Given the description of an element on the screen output the (x, y) to click on. 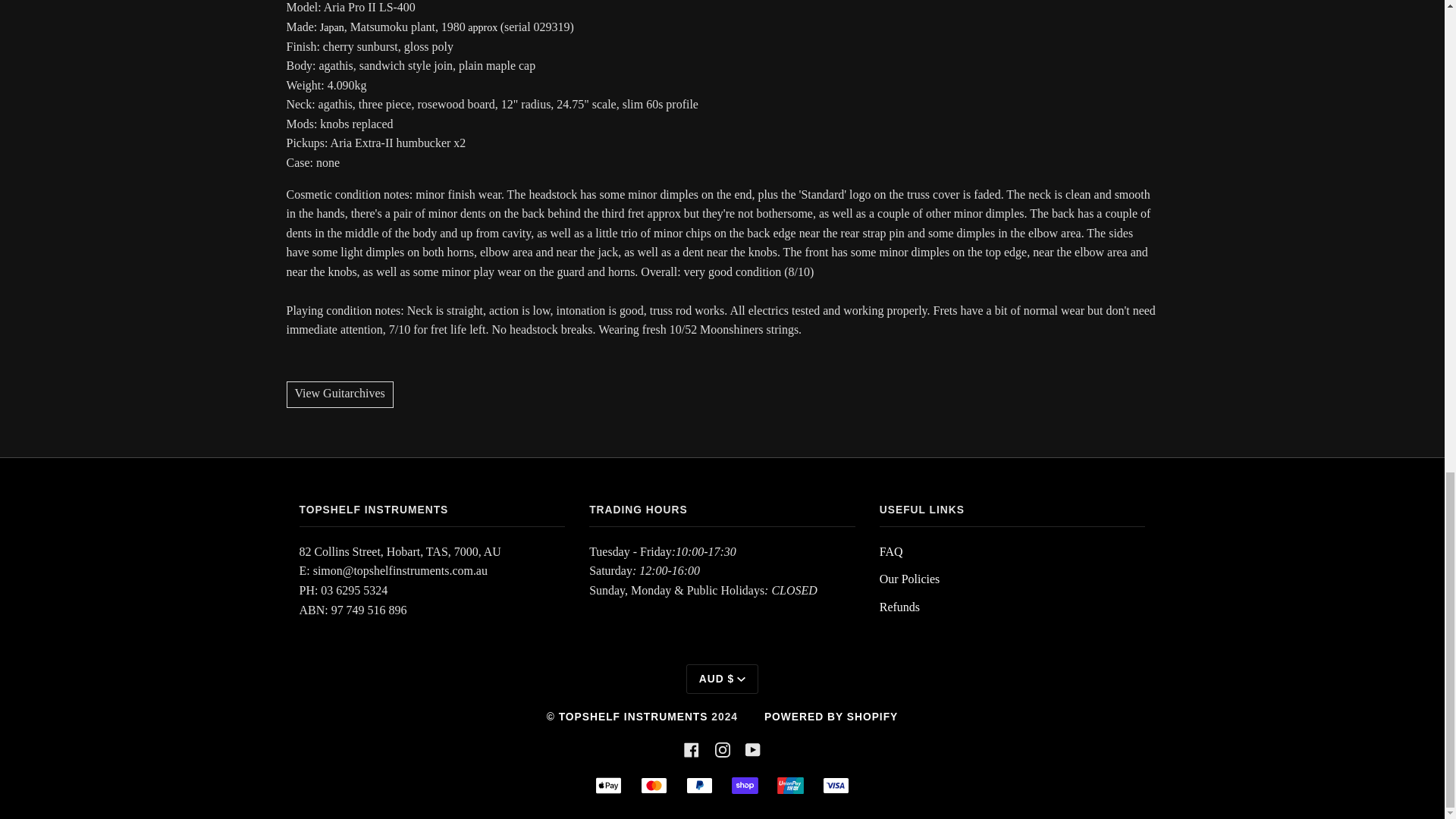
SHOP PAY (745, 785)
APPLE PAY (608, 785)
PAYPAL (699, 785)
Instagram (721, 748)
YouTube (752, 748)
MASTERCARD (653, 785)
Facebook (691, 748)
VISA (835, 785)
UNION PAY (790, 785)
